Given the description of an element on the screen output the (x, y) to click on. 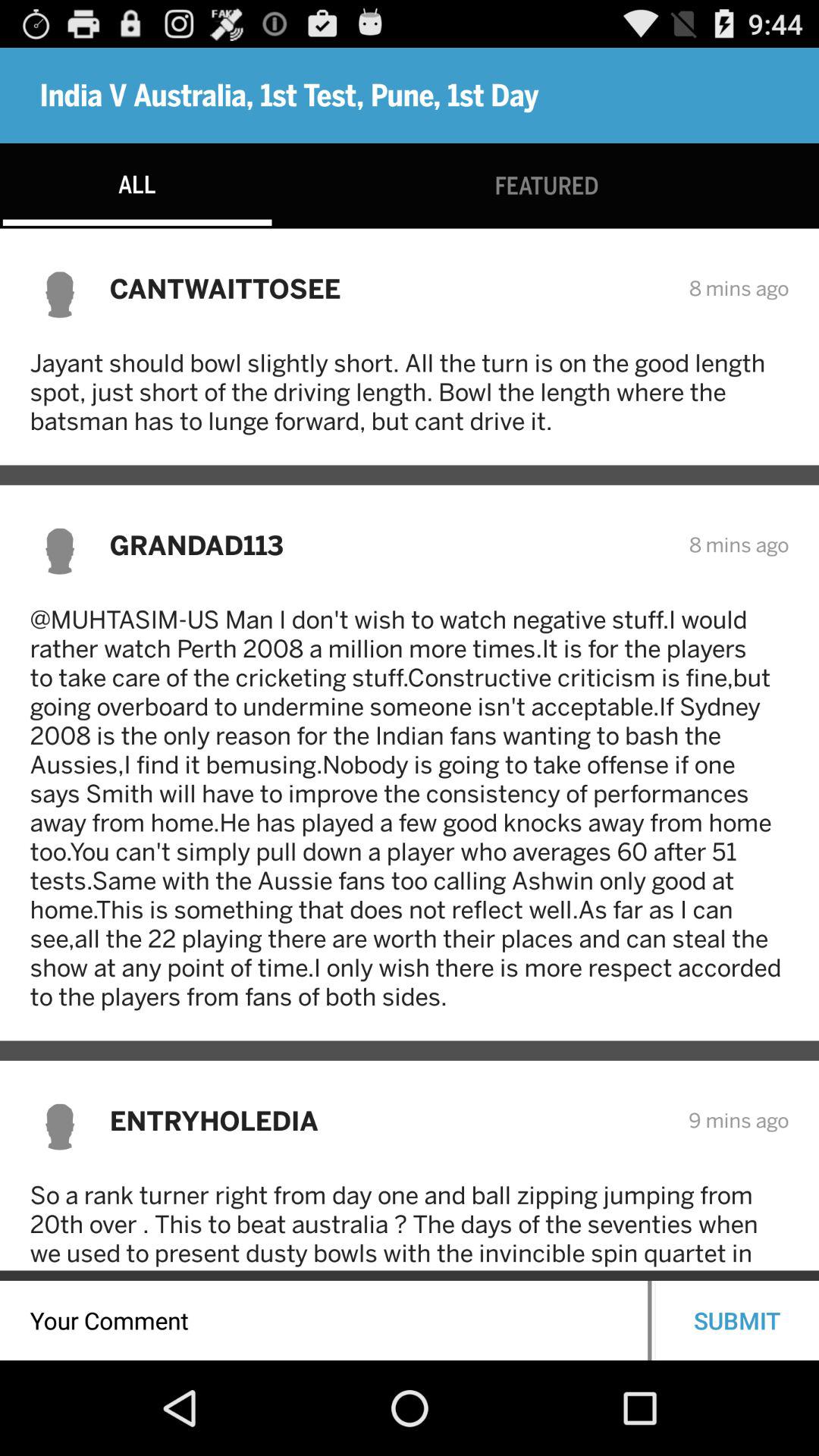
comment field (323, 1320)
